Given the description of an element on the screen output the (x, y) to click on. 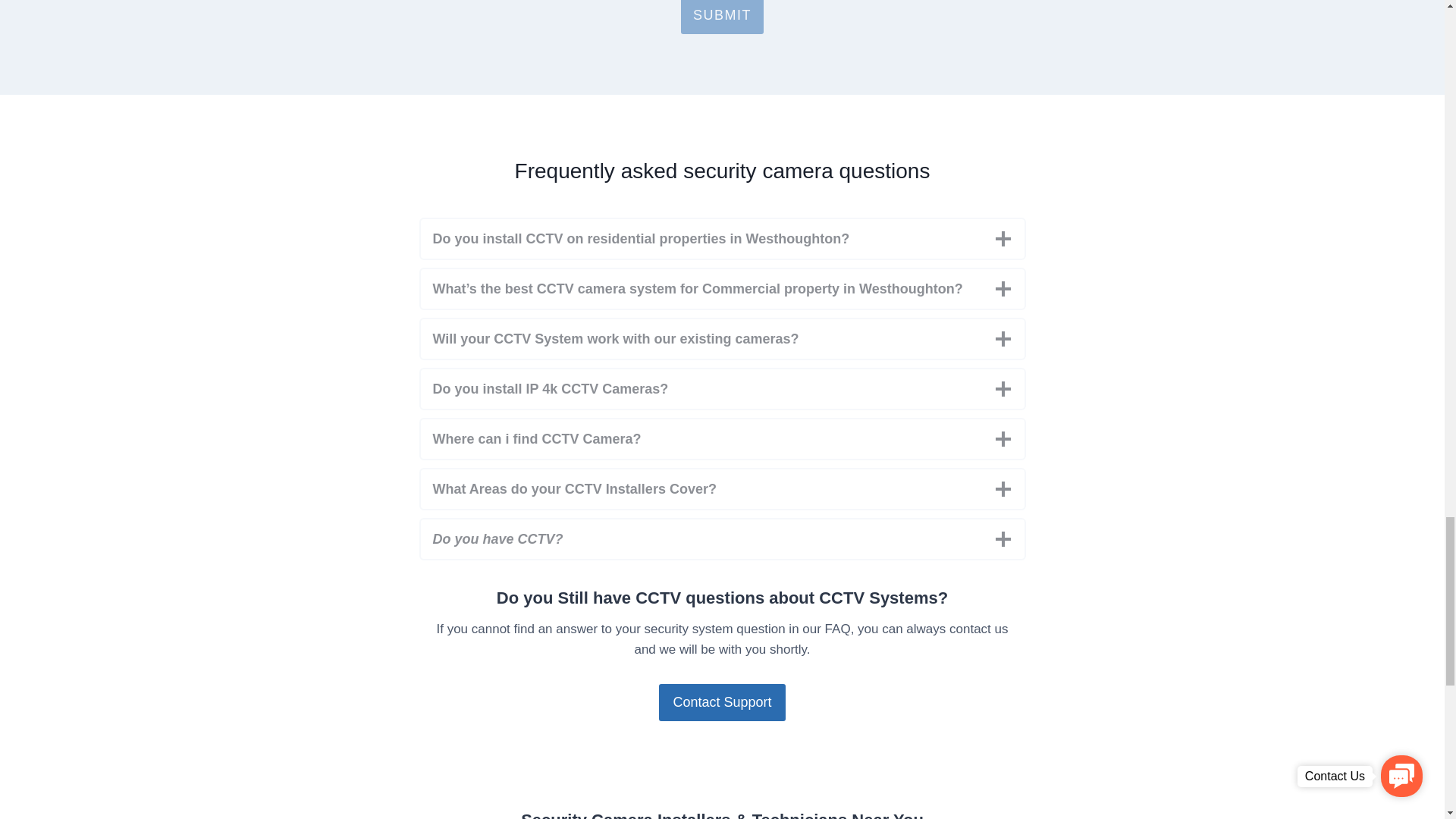
What Areas do your CCTV Installers Cover? (722, 488)
Will your CCTV System work with our existing cameras? (722, 338)
SUBMIT (721, 16)
Where can i find CCTV Camera? (722, 438)
Do you install IP 4k CCTV Cameras? (722, 388)
